Given the description of an element on the screen output the (x, y) to click on. 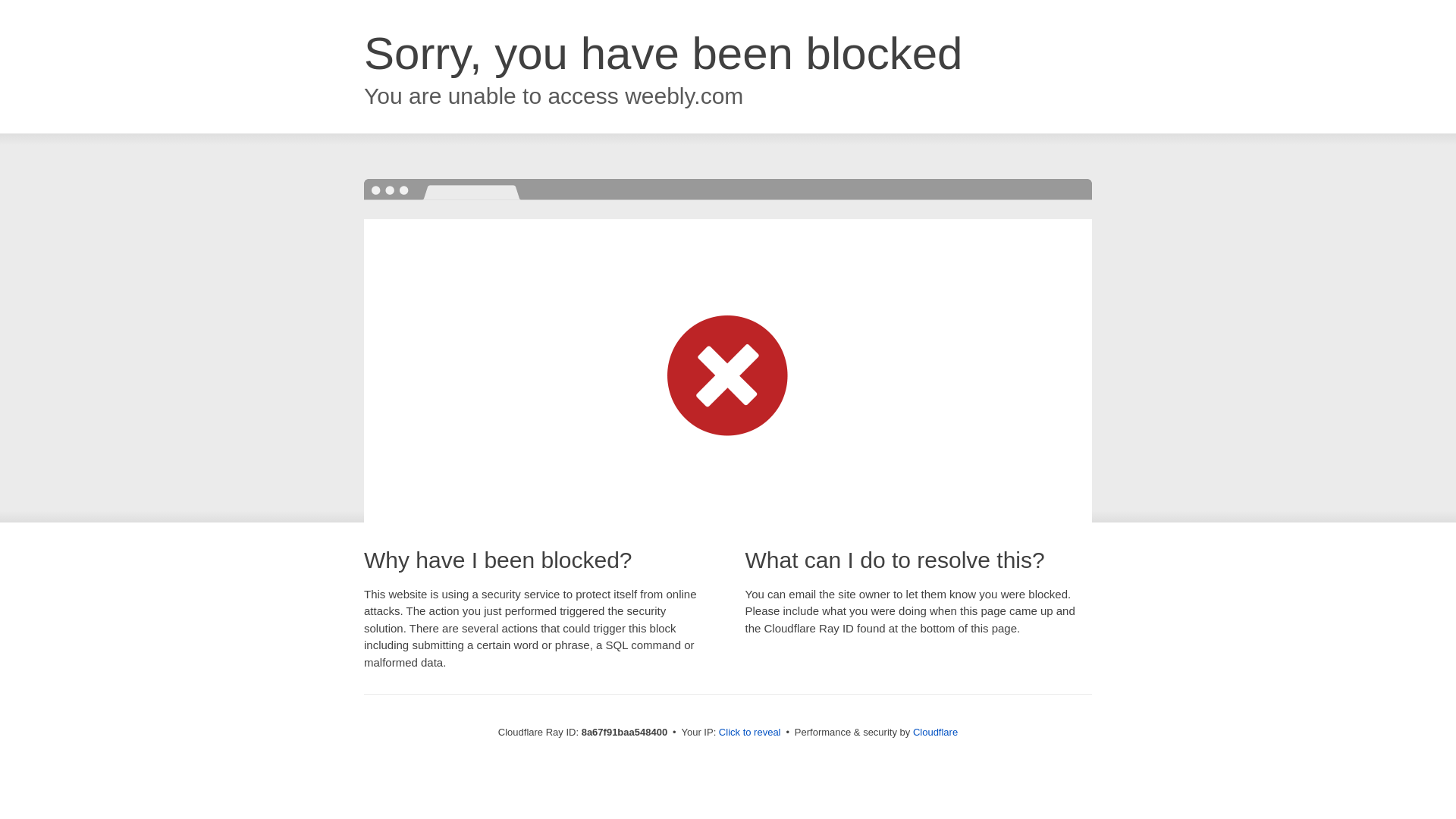
Click to reveal (749, 732)
Cloudflare (935, 731)
